Given the description of an element on the screen output the (x, y) to click on. 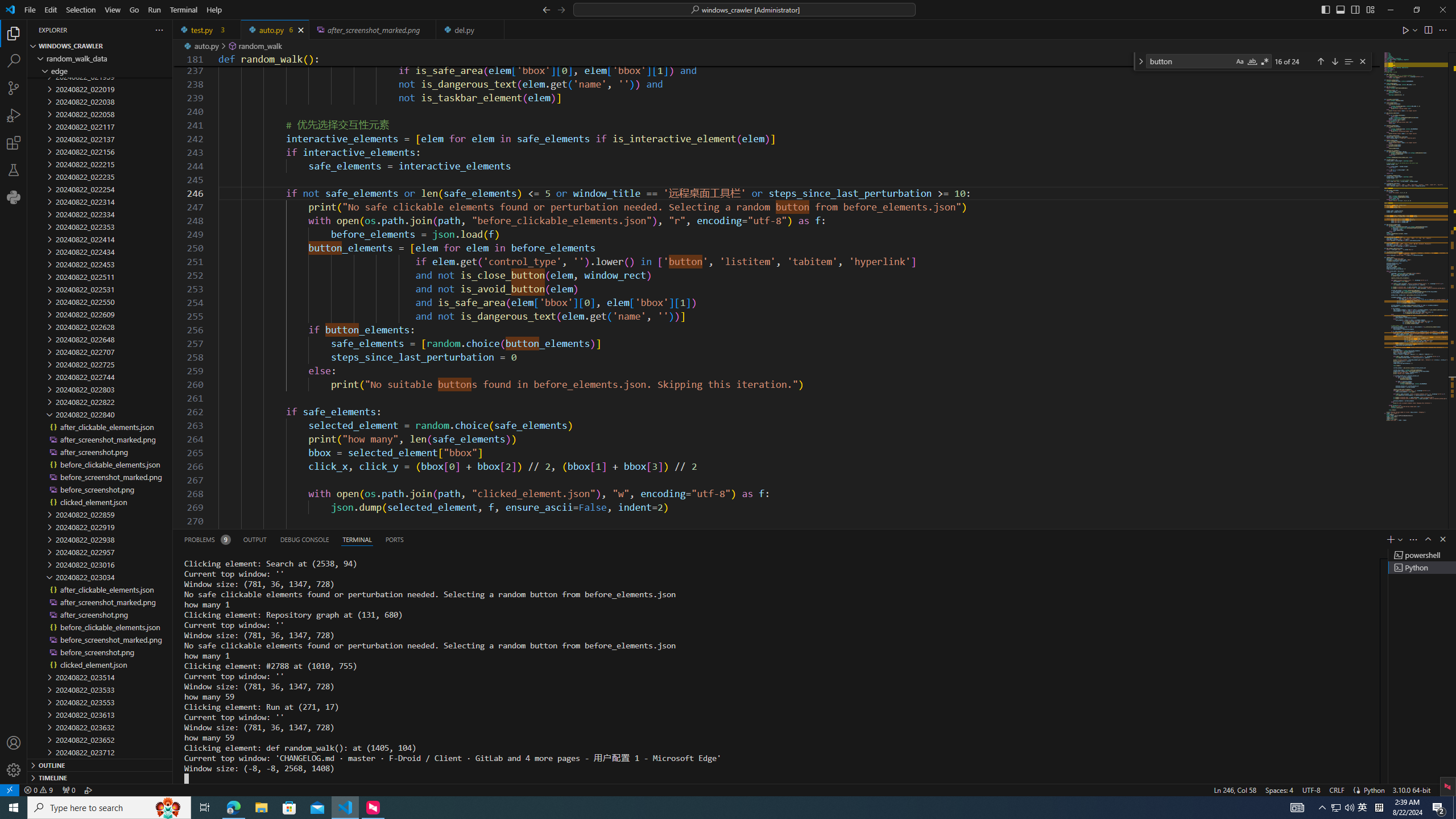
Ports actions (917, 539)
Problems (Ctrl+Shift+M) - Total 9 Problems (206, 539)
Next Match (Enter) (1333, 60)
Match Case (Alt+C) (1239, 61)
Previous Match (Shift+Enter) (1320, 60)
Split Editor Right (Ctrl+\) [Alt] Split Editor Down (1428, 29)
Explorer Section: windows_crawler (99, 46)
Run (153, 9)
Use Regular Expression (Alt+R) (1265, 61)
Terminal (Ctrl+`) (356, 539)
Ports (394, 539)
Debug:  (88, 789)
Python (1373, 789)
